Given the description of an element on the screen output the (x, y) to click on. 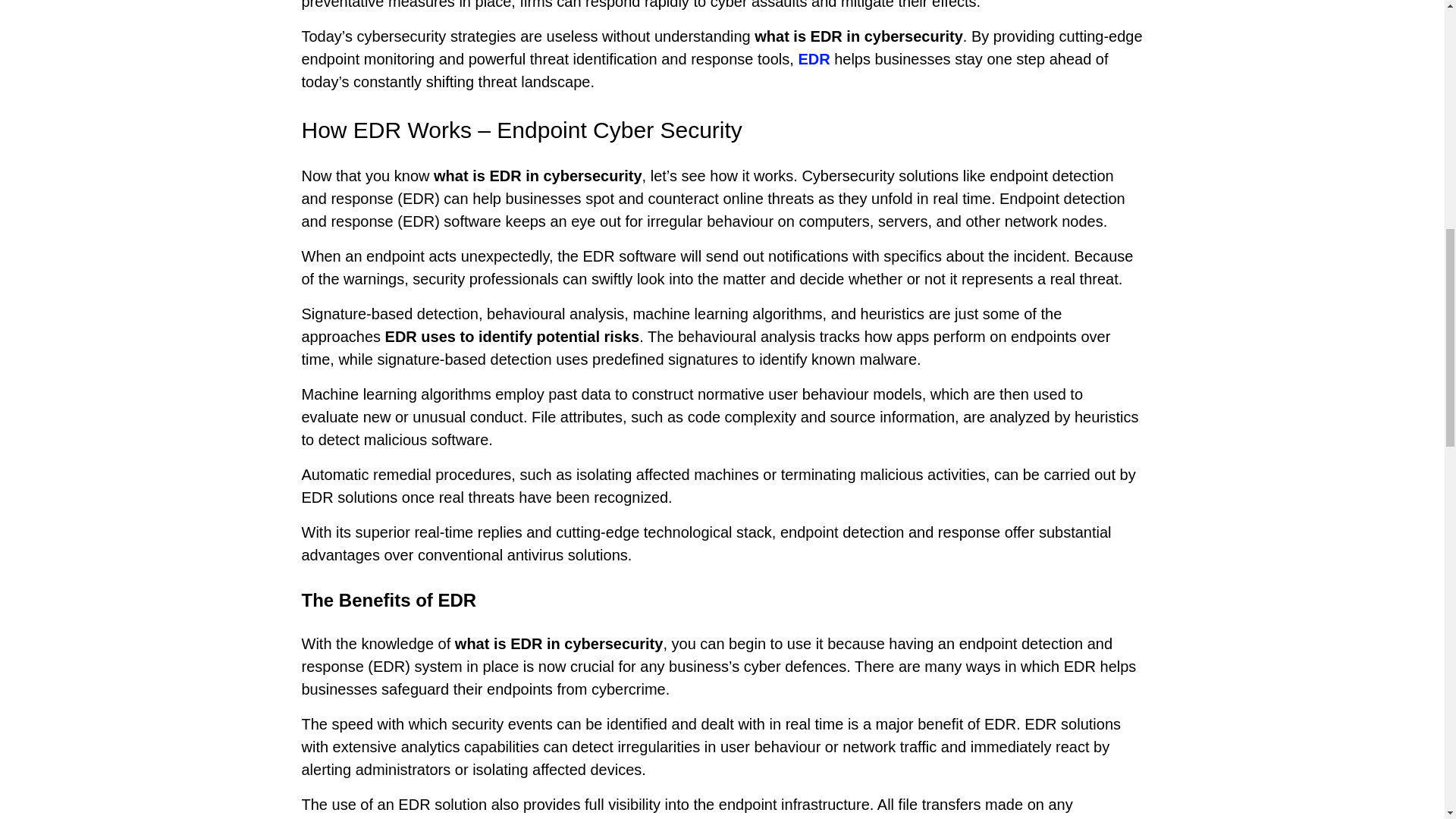
EDR (813, 58)
